Given the description of an element on the screen output the (x, y) to click on. 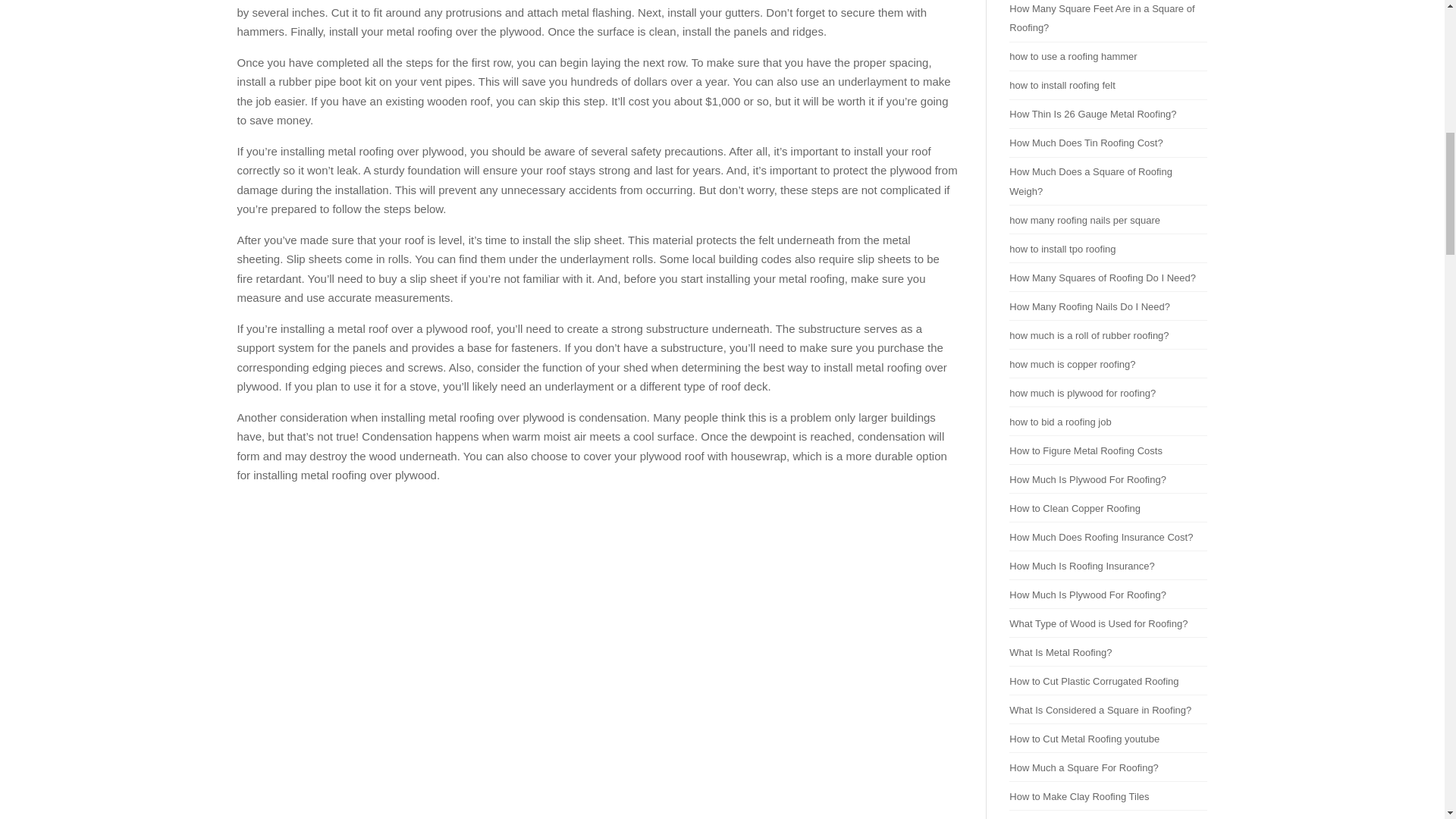
How Much Does Tin Roofing Cost? (1085, 142)
how many roofing nails per square (1084, 220)
how to install roofing felt (1062, 84)
How Many Square Feet Are in a Square of Roofing? (1101, 18)
How Many Squares of Roofing Do I Need? (1102, 277)
how to use a roofing hammer (1073, 56)
How Thin Is 26 Gauge Metal Roofing? (1092, 113)
how to install tpo roofing (1062, 248)
How Much Does a Square of Roofing Weigh? (1090, 181)
